Given the description of an element on the screen output the (x, y) to click on. 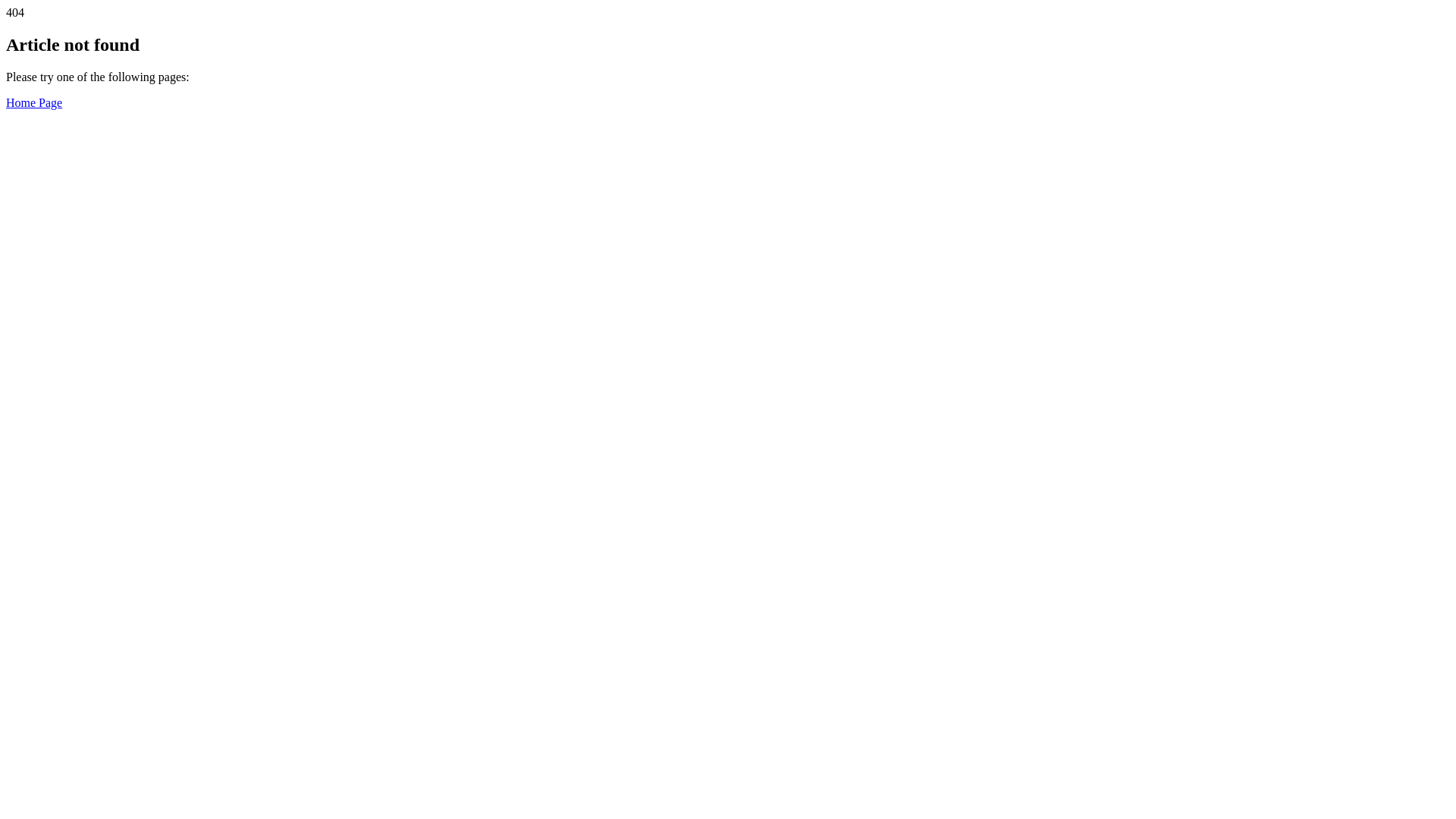
Home Page Element type: text (34, 102)
